Given the description of an element on the screen output the (x, y) to click on. 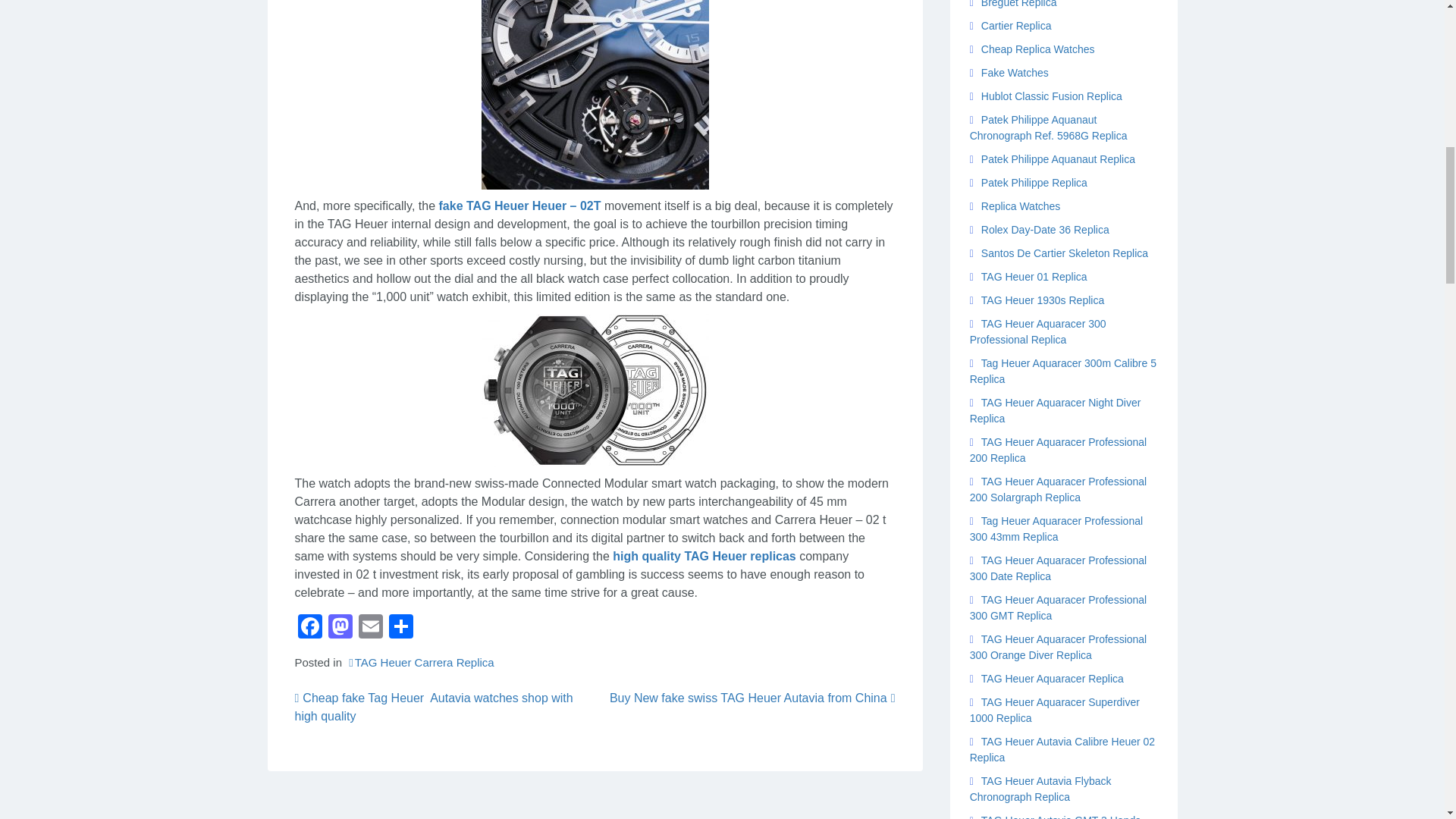
Facebook (309, 628)
high quality TAG Heuer replicas (704, 555)
Email (370, 628)
Cheap fake Tag Heuer  Autavia watches shop with high quality (433, 706)
Share (399, 628)
Email (370, 628)
TAG Heuer Carrera Replica (419, 662)
Facebook (309, 628)
Mastodon (339, 628)
Mastodon (339, 628)
Buy New fake swiss TAG Heuer Autavia from China (752, 697)
